Given the description of an element on the screen output the (x, y) to click on. 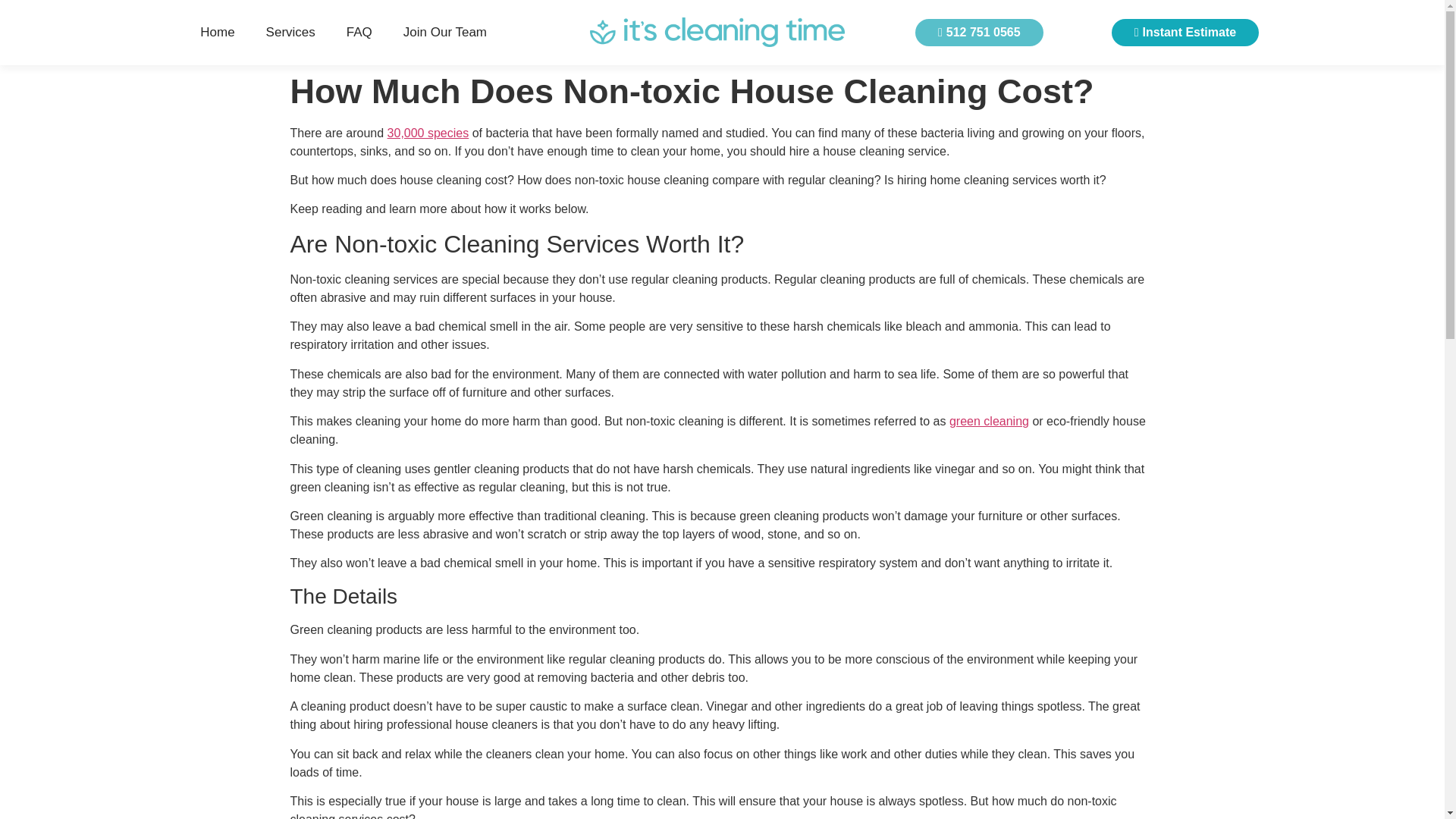
30,000 species (427, 132)
green cleaning (989, 420)
Instant Estimate (1185, 31)
512 751 0565 (979, 31)
Join Our Team (444, 32)
